Given the description of an element on the screen output the (x, y) to click on. 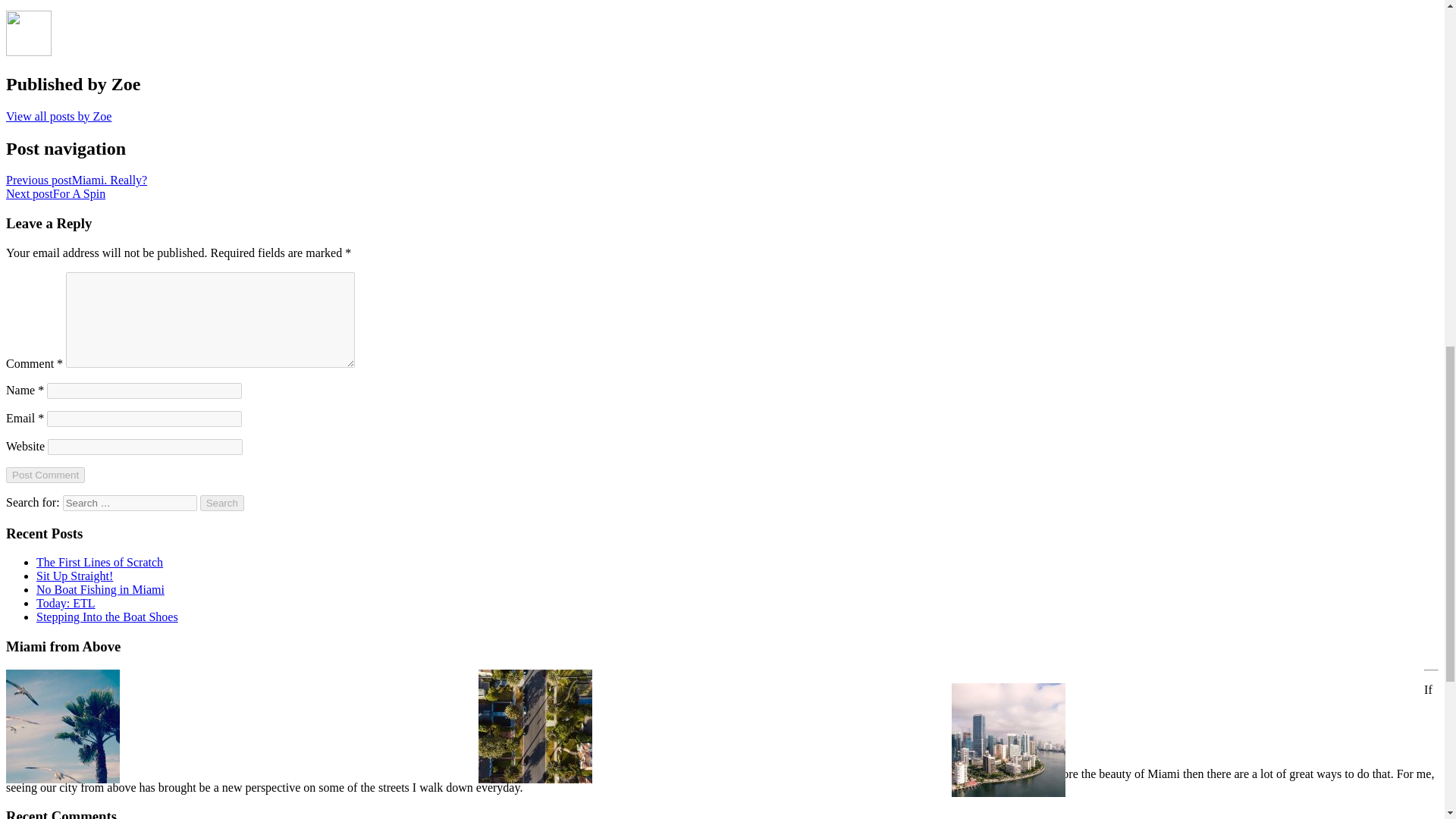
Search (222, 503)
Search (222, 503)
Post Comment (44, 474)
The First Lines of Scratch (99, 562)
Sit Up Straight! (74, 575)
No Boat Fishing in Miami (100, 589)
View all posts by Zoe (58, 115)
Search (222, 503)
Stepping Into the Boat Shoes (106, 616)
Post Comment (44, 474)
